Given the description of an element on the screen output the (x, y) to click on. 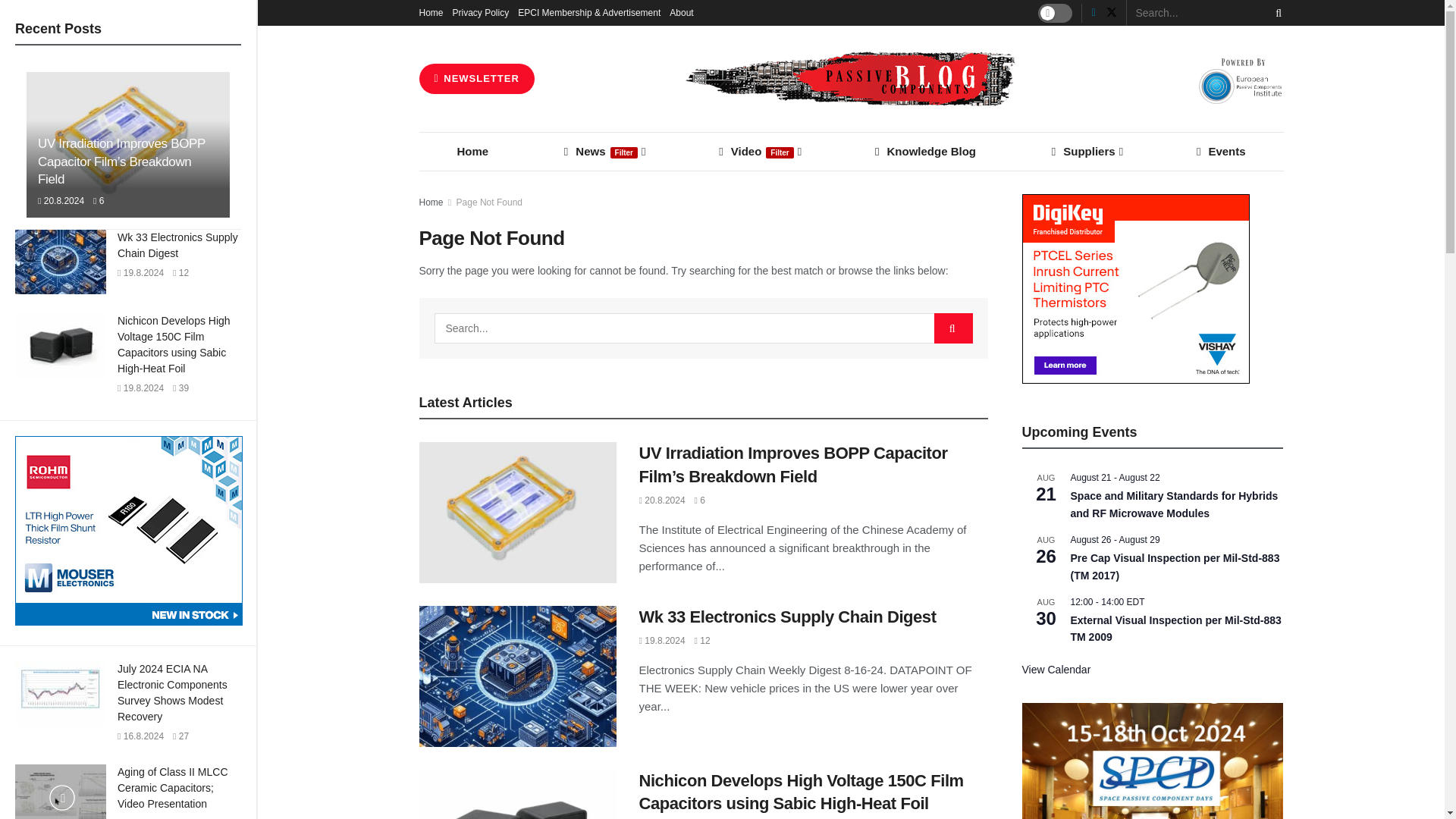
advertisement (128, 530)
27 (181, 736)
12 (181, 272)
19.8.2024 (140, 272)
External Visual Inspection per Mil-Std-883 TM 2009 (1175, 629)
Privacy Policy (480, 12)
20.8.2024 (60, 200)
6 (98, 200)
